Given the description of an element on the screen output the (x, y) to click on. 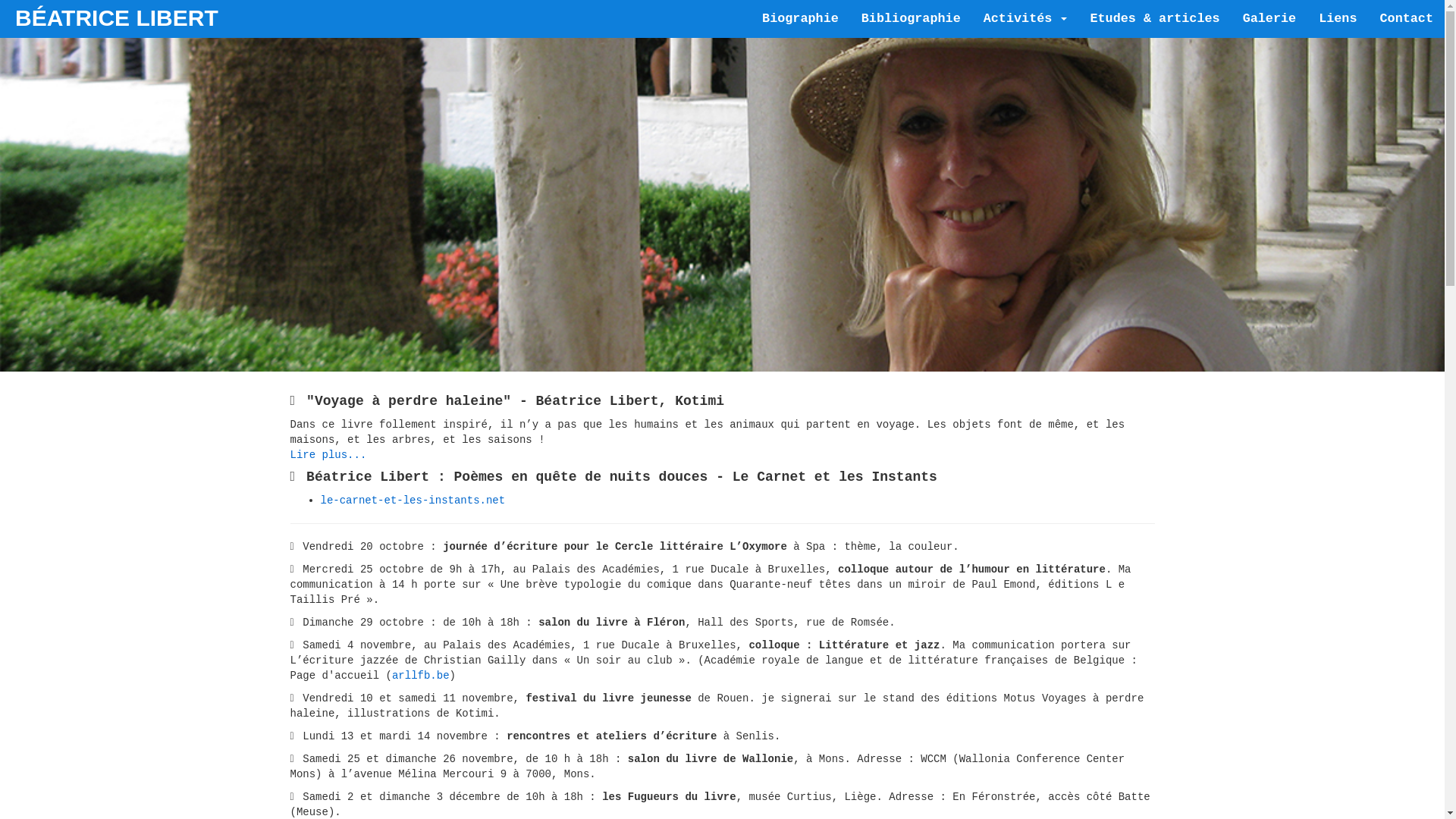
le-carnet-et-les-instants.net Element type: text (412, 500)
Bibliographie Element type: text (911, 18)
Contact Element type: text (1406, 18)
Etudes & articles Element type: text (1154, 18)
Liens Element type: text (1337, 18)
Biographie Element type: text (800, 18)
Galerie Element type: text (1269, 18)
arllfb.be Element type: text (420, 675)
Lire plus... Element type: text (327, 454)
